Given the description of an element on the screen output the (x, y) to click on. 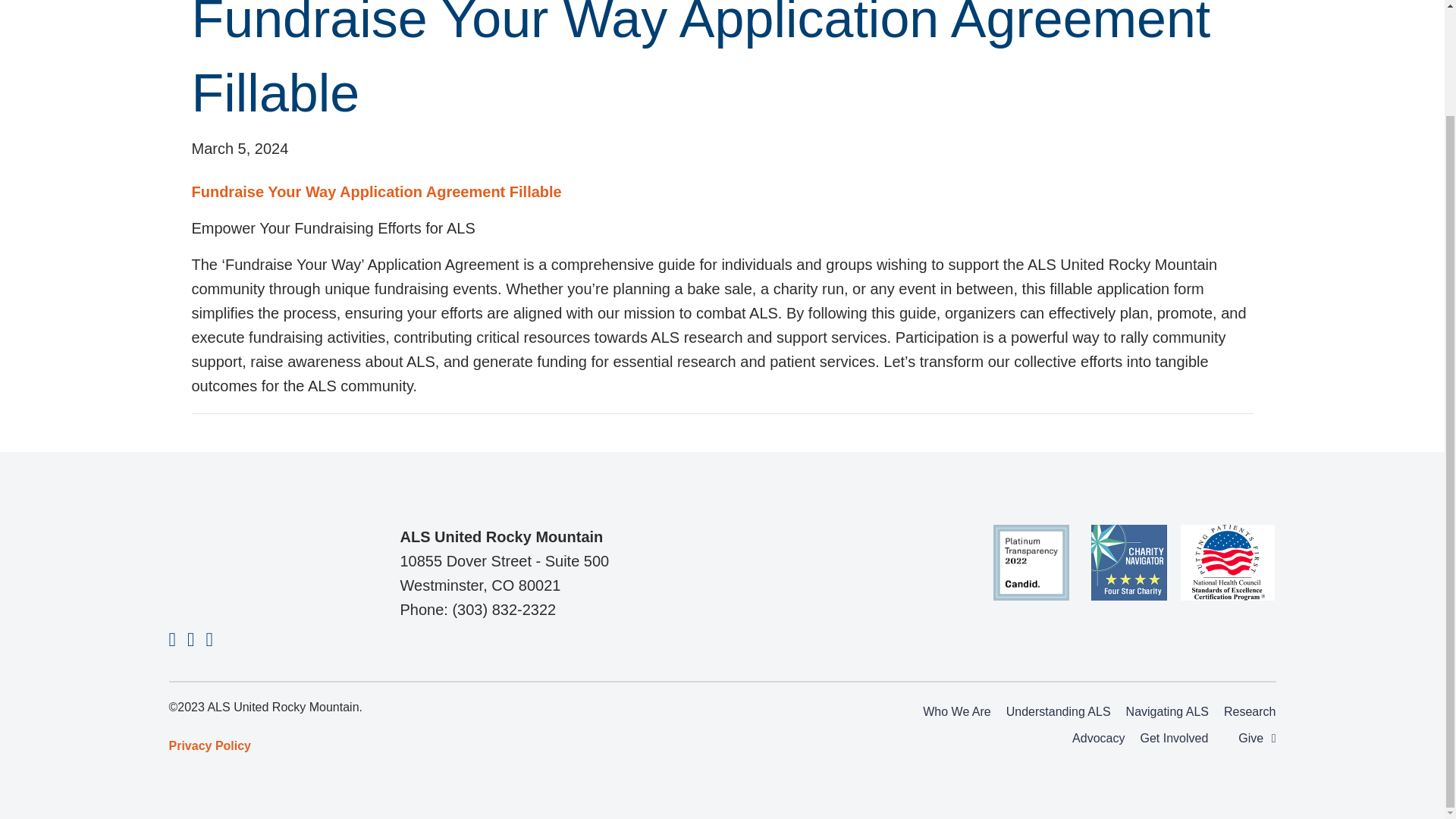
Instagram (191, 639)
Facebook (172, 639)
Youtube (210, 639)
ALS01 Identity Rocky Mountain RGB M091523 (244, 558)
